Given the description of an element on the screen output the (x, y) to click on. 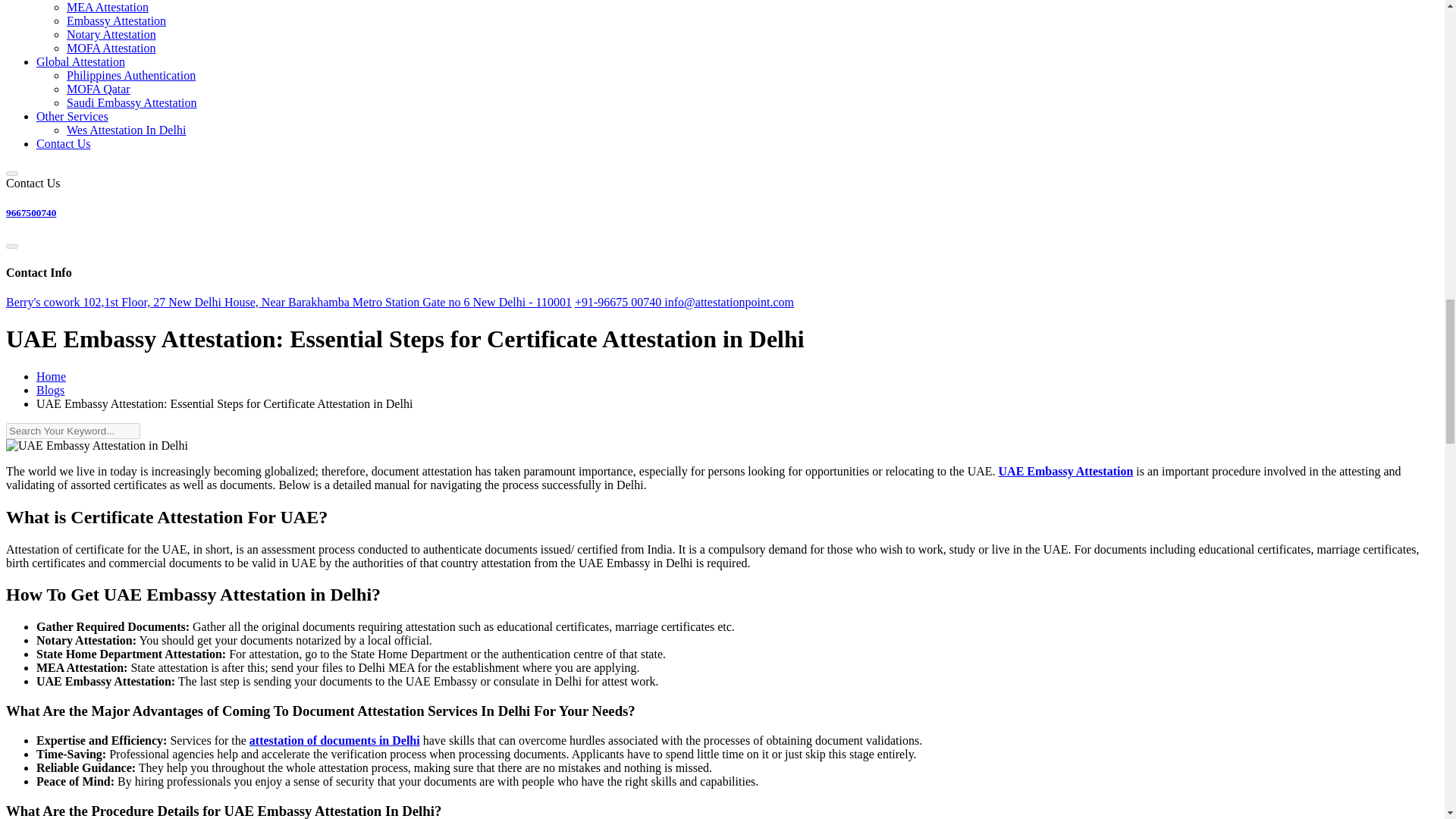
Global Attestation (80, 61)
Saudi Embassy Attestation (131, 102)
MEA Attestation (107, 6)
MOFA Qatar (98, 88)
Home (50, 376)
Embassy Attestation (115, 20)
Notary Attestation (110, 33)
Other Services (71, 115)
9667500740 (30, 212)
Philippines Authentication (130, 74)
Blogs (50, 390)
Wes Attestation In Delhi (126, 129)
MOFA Attestation (110, 47)
UAE Embassy Attestation (1066, 471)
